Given the description of an element on the screen output the (x, y) to click on. 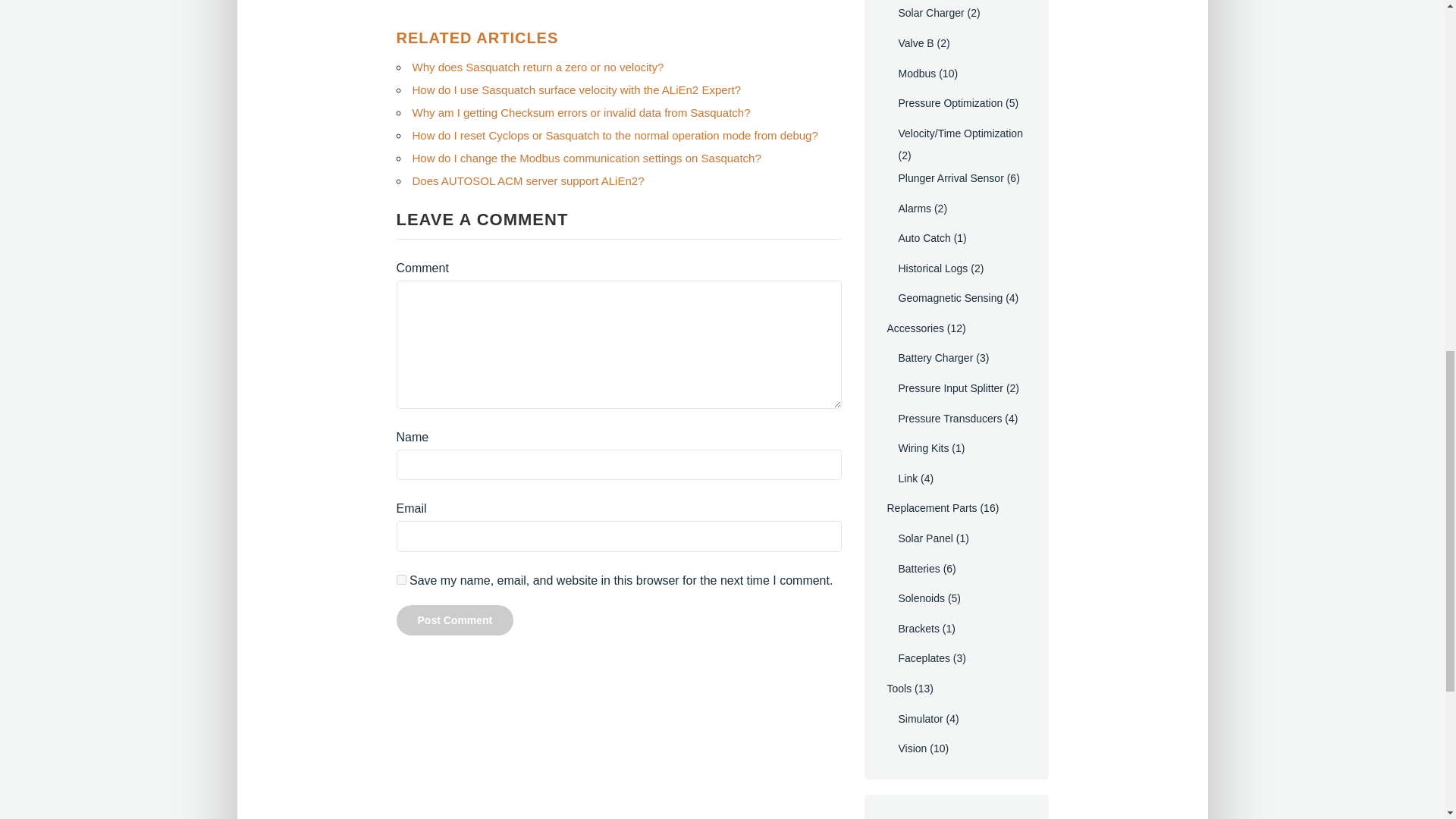
yes (401, 579)
Post Comment (454, 620)
Why does Sasquatch return a zero or no velocity? (537, 66)
